Given the description of an element on the screen output the (x, y) to click on. 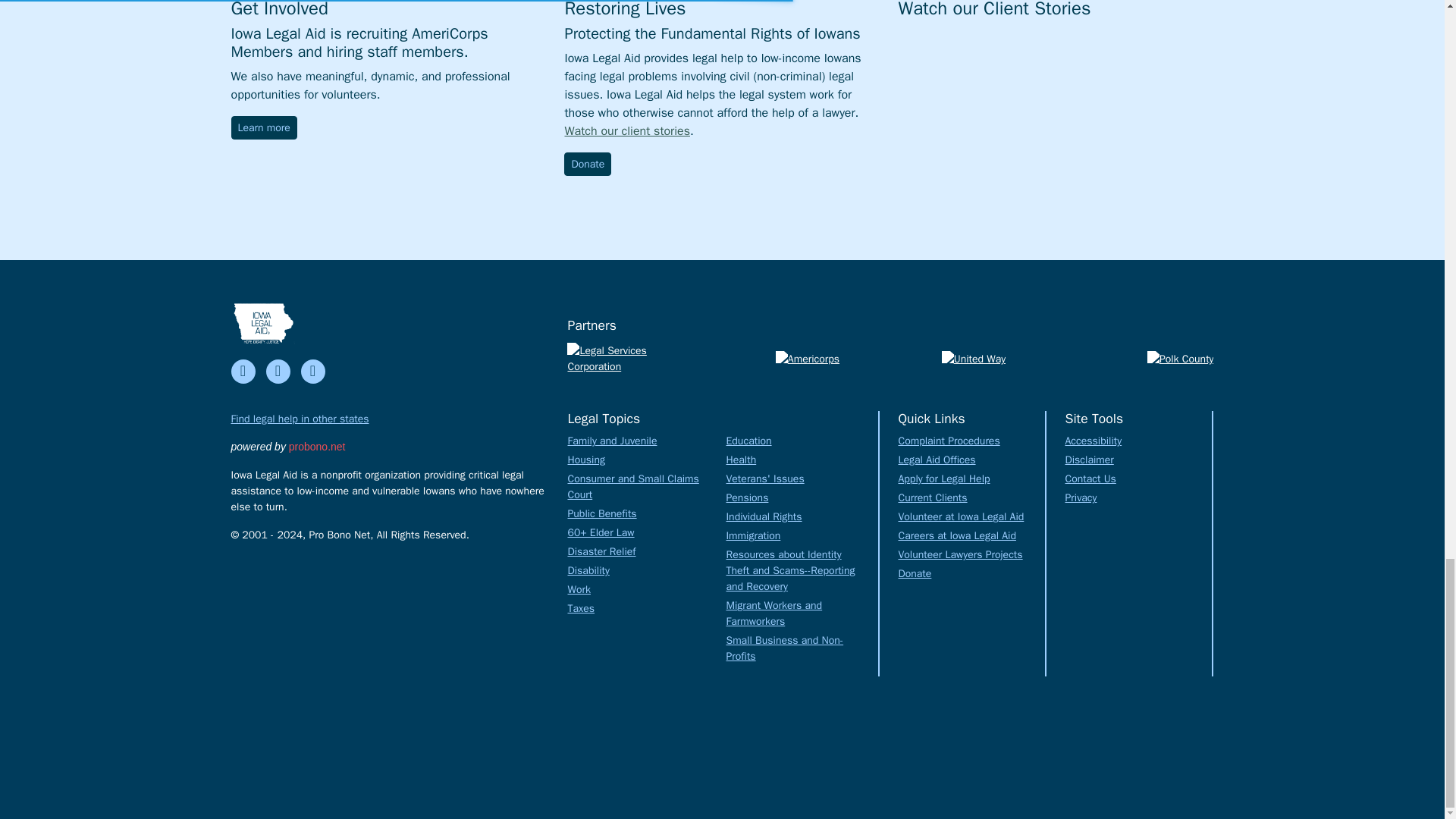
facebook (242, 371)
YouTube video player (1055, 109)
IowaLegalAid.org (262, 322)
